Given the description of an element on the screen output the (x, y) to click on. 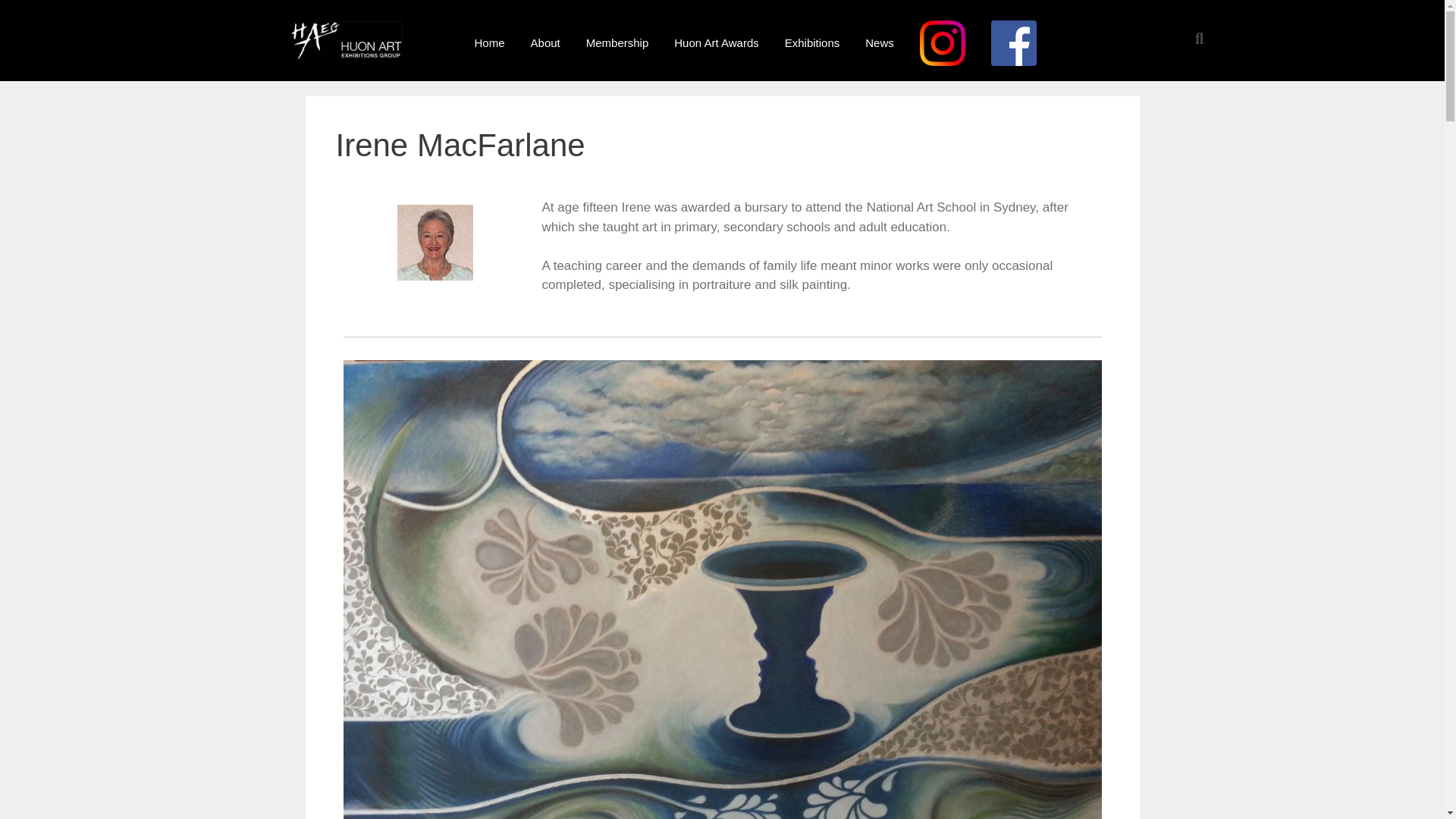
Follow HAEG on Instagram (942, 42)
Exhibitions (812, 42)
Huon Art Awards (716, 42)
Follow HAEG on Facebook (1013, 42)
Membership (617, 42)
irene-macfarlane-portrait-crop (435, 242)
